Given the description of an element on the screen output the (x, y) to click on. 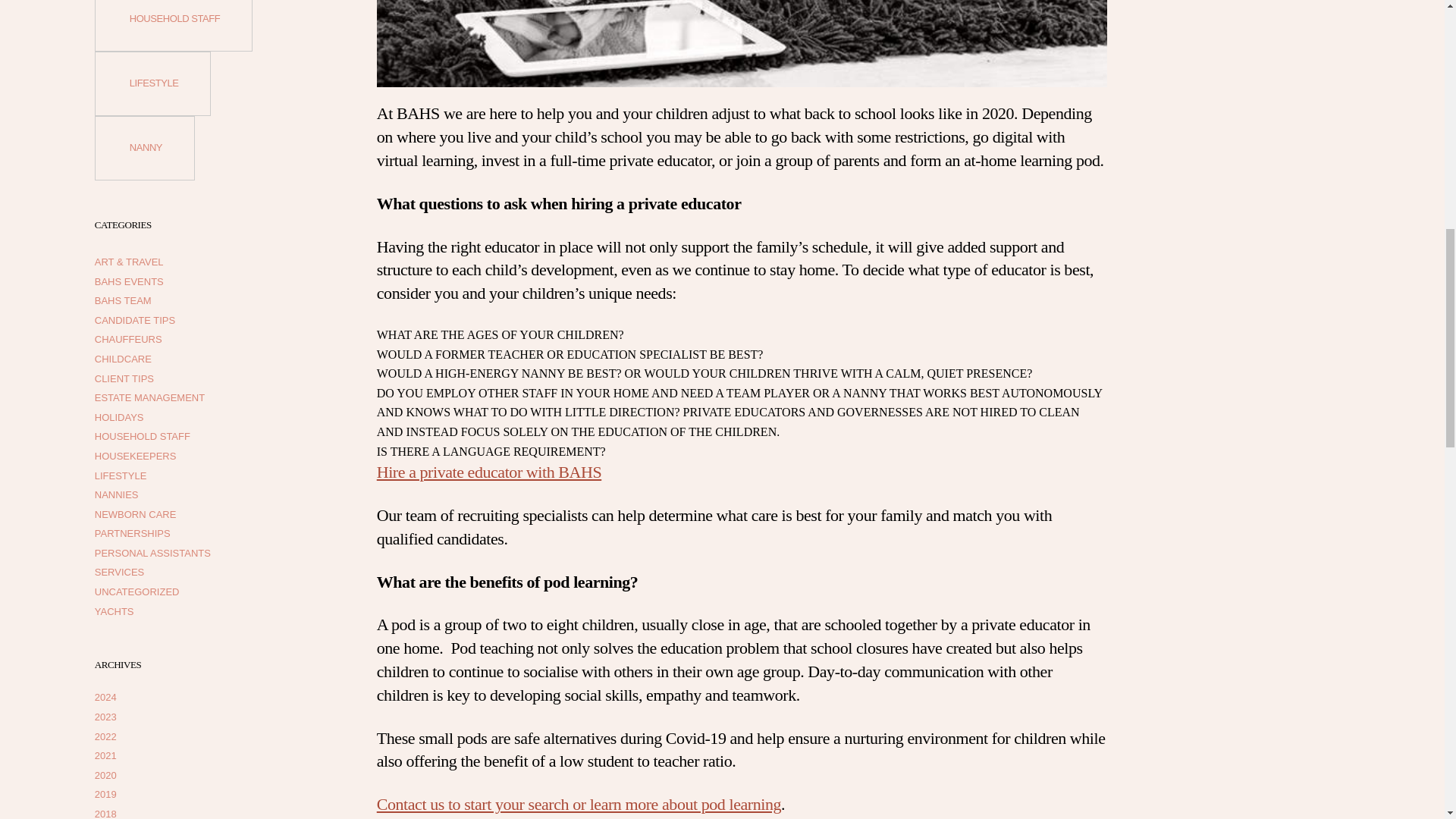
Private Educators and Pod Learning (741, 43)
